Given the description of an element on the screen output the (x, y) to click on. 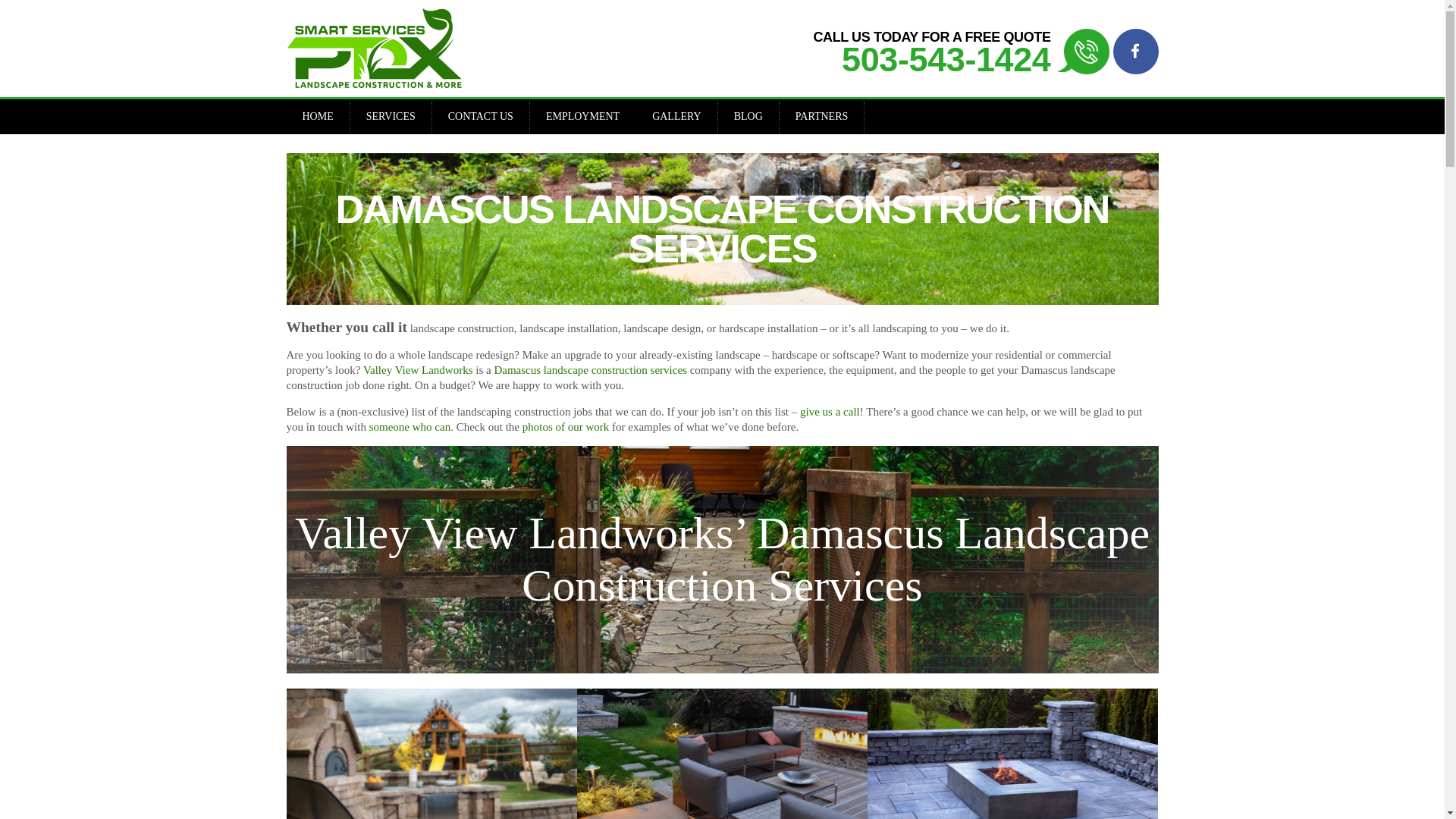
HOME (317, 116)
CONTACT US (480, 116)
BLOG (747, 116)
Valley View Landworks (417, 369)
give us a call (829, 411)
Damascus landscape construction services (590, 369)
GALLERY (676, 116)
SERVICES (390, 116)
EMPLOYMENT (581, 116)
someone who can (409, 426)
PARTNERS (820, 116)
photos of our work (566, 426)
503-543-1424 (945, 59)
